Given the description of an element on the screen output the (x, y) to click on. 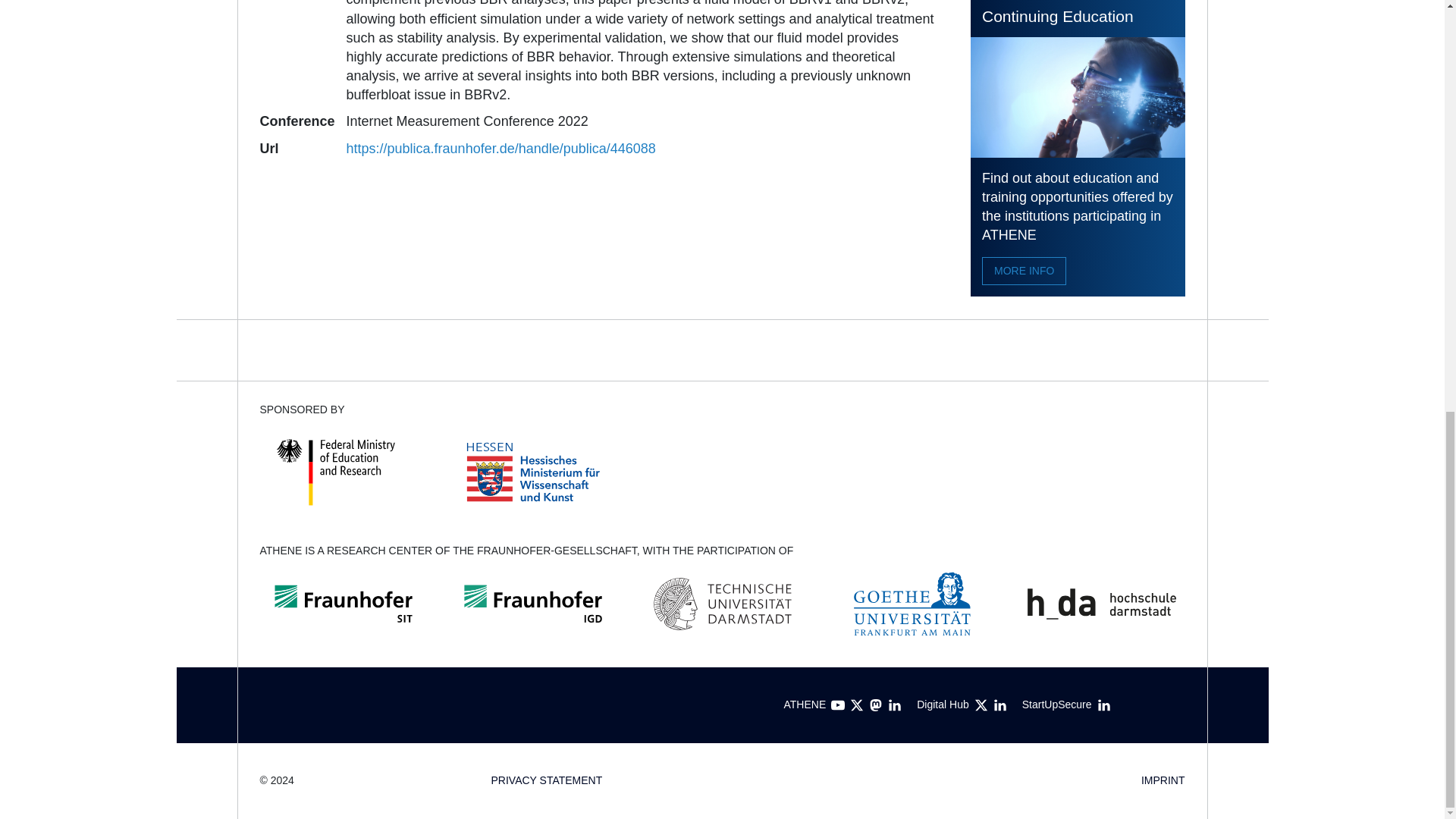
LinkedIn (1103, 704)
Mastodon (875, 704)
Twitter (981, 704)
Twitter (856, 704)
LinkedIn (894, 704)
YouTube (837, 704)
LinkedIn (999, 704)
